Given the description of an element on the screen output the (x, y) to click on. 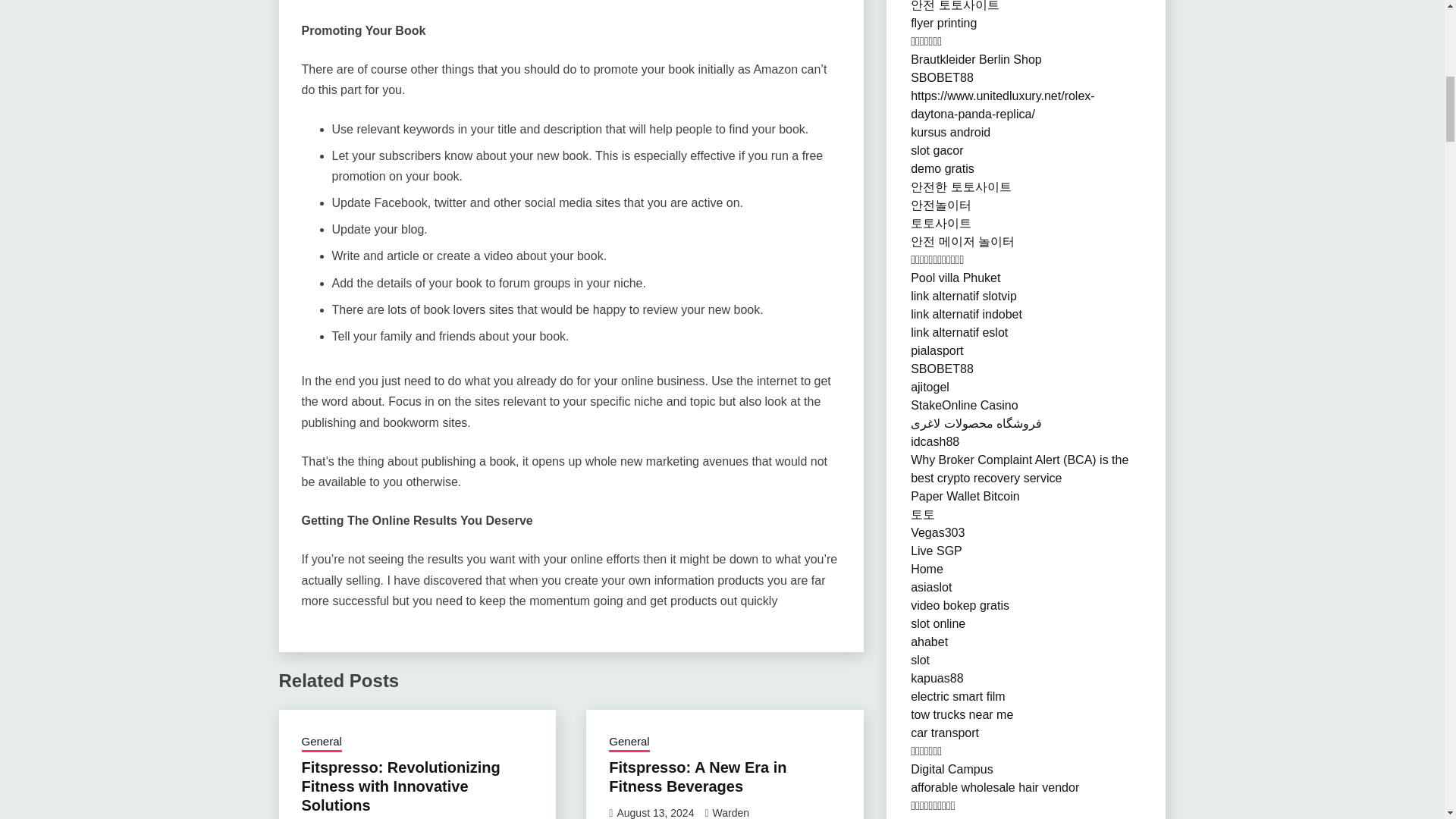
Warden (731, 812)
General (321, 742)
Fitspresso: A New Era in Fitness Beverages (697, 776)
August 13, 2024 (654, 812)
General (628, 742)
